Given the description of an element on the screen output the (x, y) to click on. 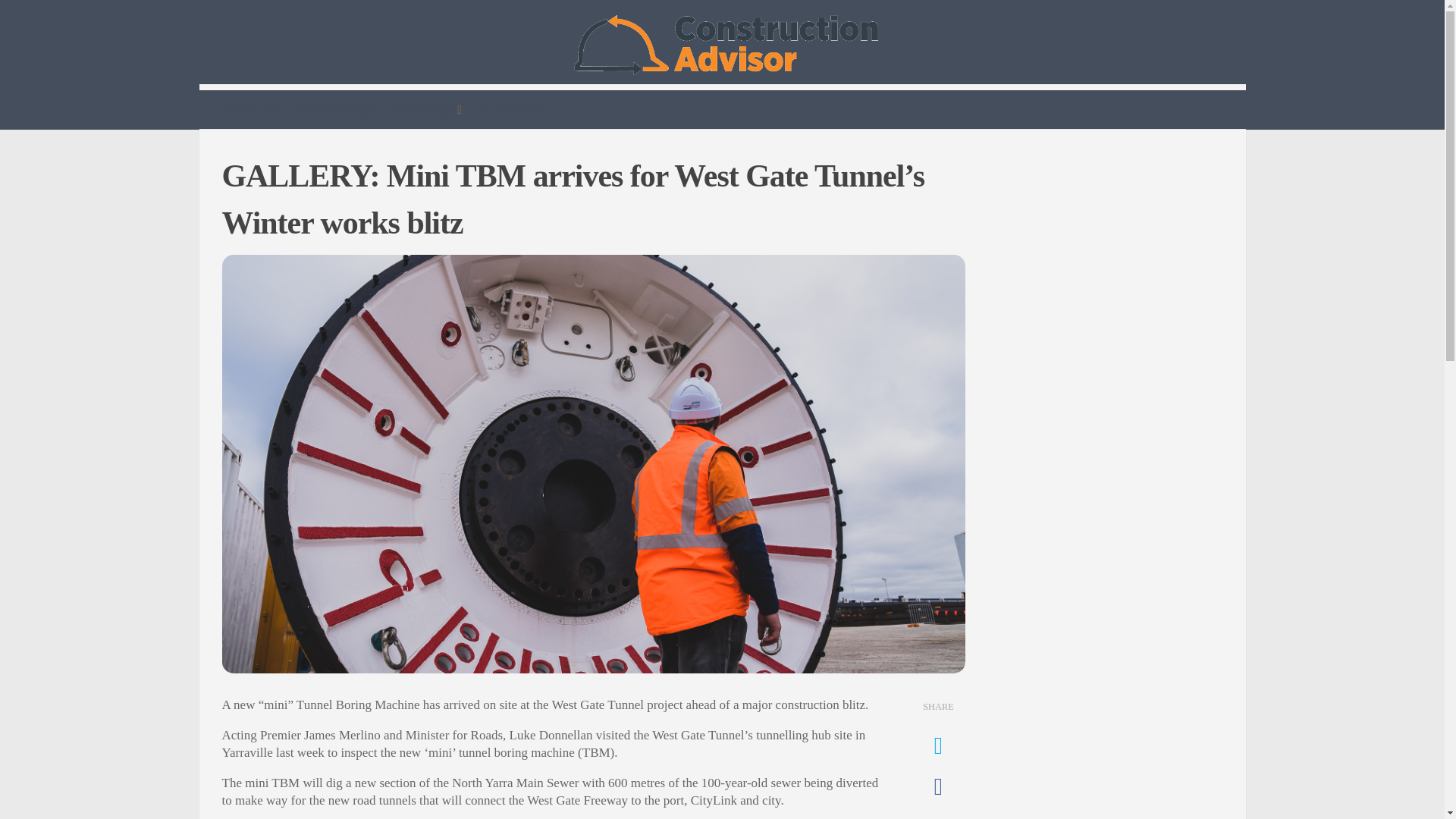
Our Services (335, 108)
Contact Us (515, 108)
Wellbeing (427, 109)
About Us (248, 108)
Skip to content (59, 20)
